Given the description of an element on the screen output the (x, y) to click on. 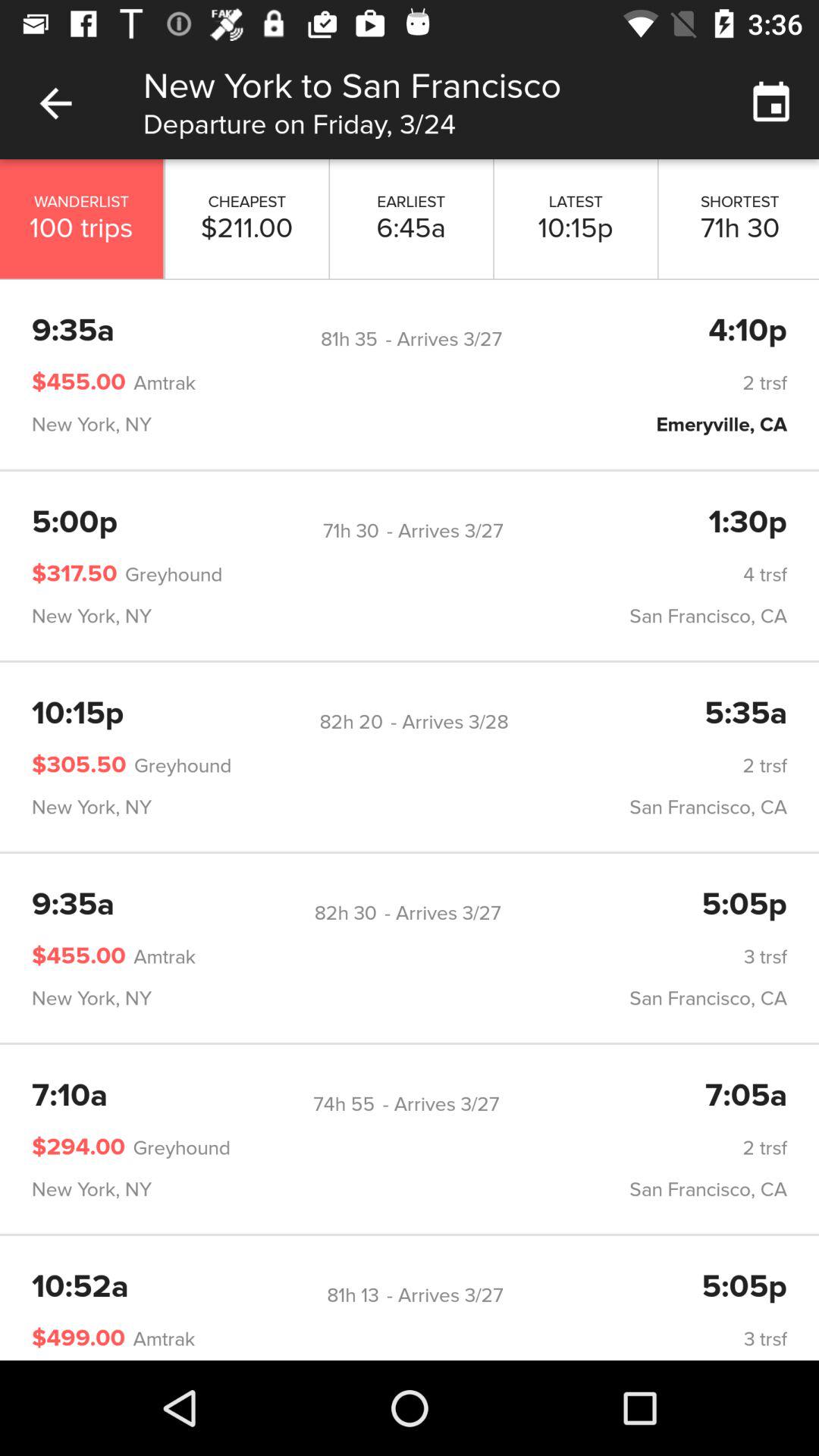
swipe to 82h 30 icon (345, 913)
